Given the description of an element on the screen output the (x, y) to click on. 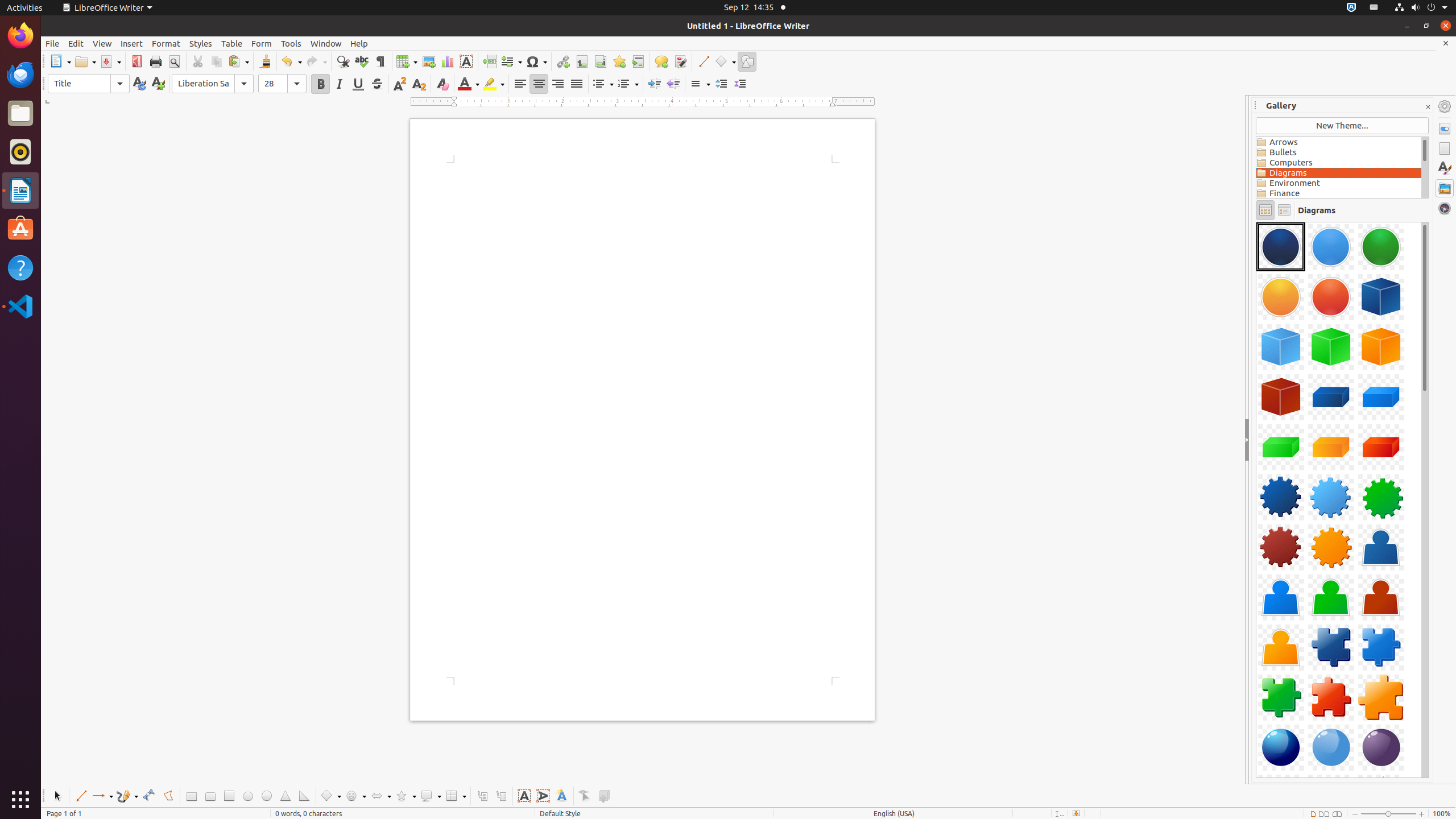
Rectangle Element type: push-button (191, 795)
Flowchart Shapes Element type: push-button (455, 795)
Component-Cube04-Orange Element type: list-item (1380, 346)
Decrease Element type: push-button (739, 83)
Left Element type: toggle-button (519, 83)
